Given the description of an element on the screen output the (x, y) to click on. 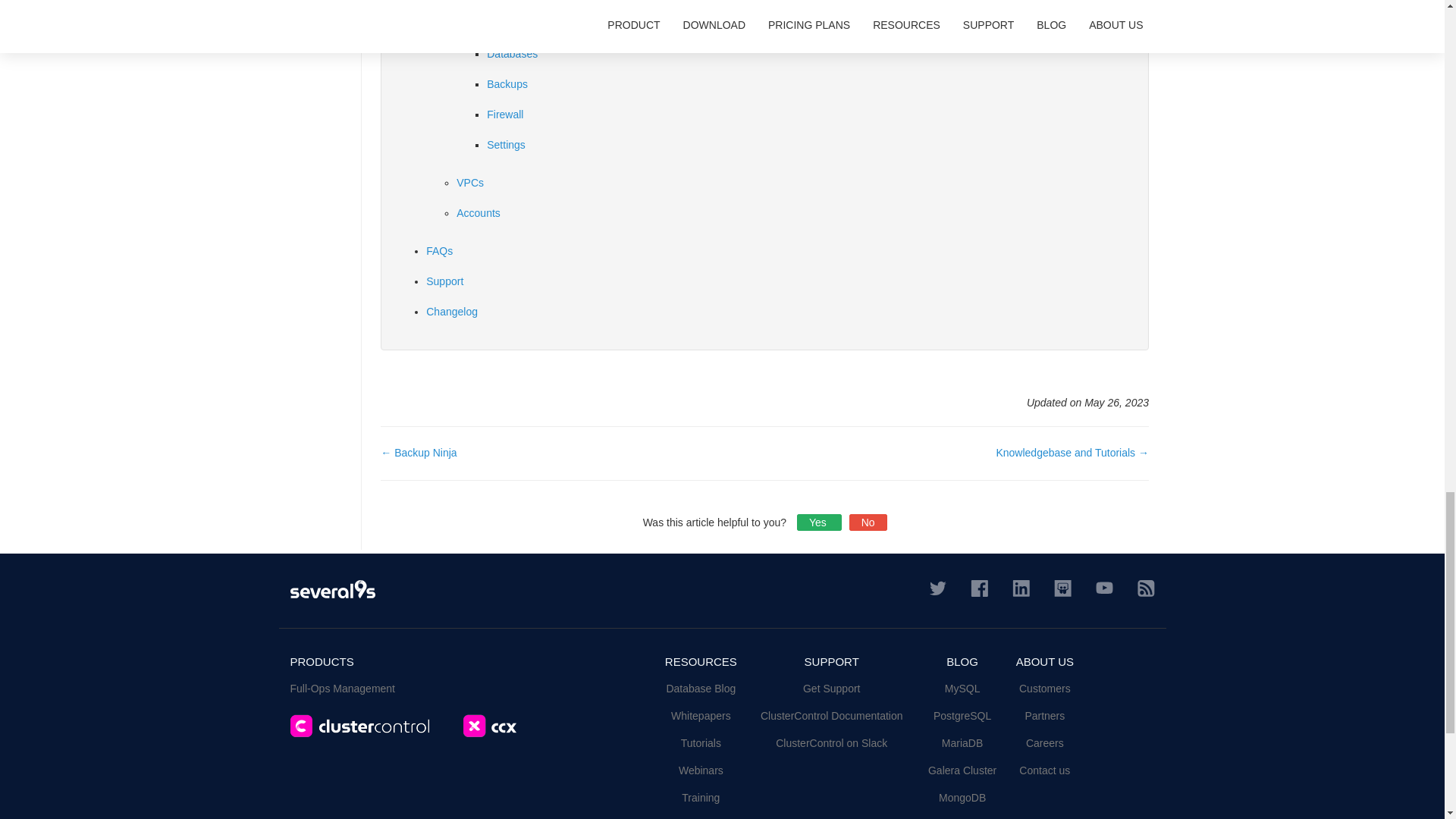
No votes yet (867, 522)
Visit Severalnines on Twitter (938, 586)
Visit Severalnines on LinkedIn (1020, 587)
Visit Severalnines on YouTube (1103, 586)
Subscribe to  via RSS (1145, 587)
No votes yet (818, 522)
Visit Severalnines on SlideShare (1062, 587)
Visit Severalnines on Facebook (979, 587)
